Given the description of an element on the screen output the (x, y) to click on. 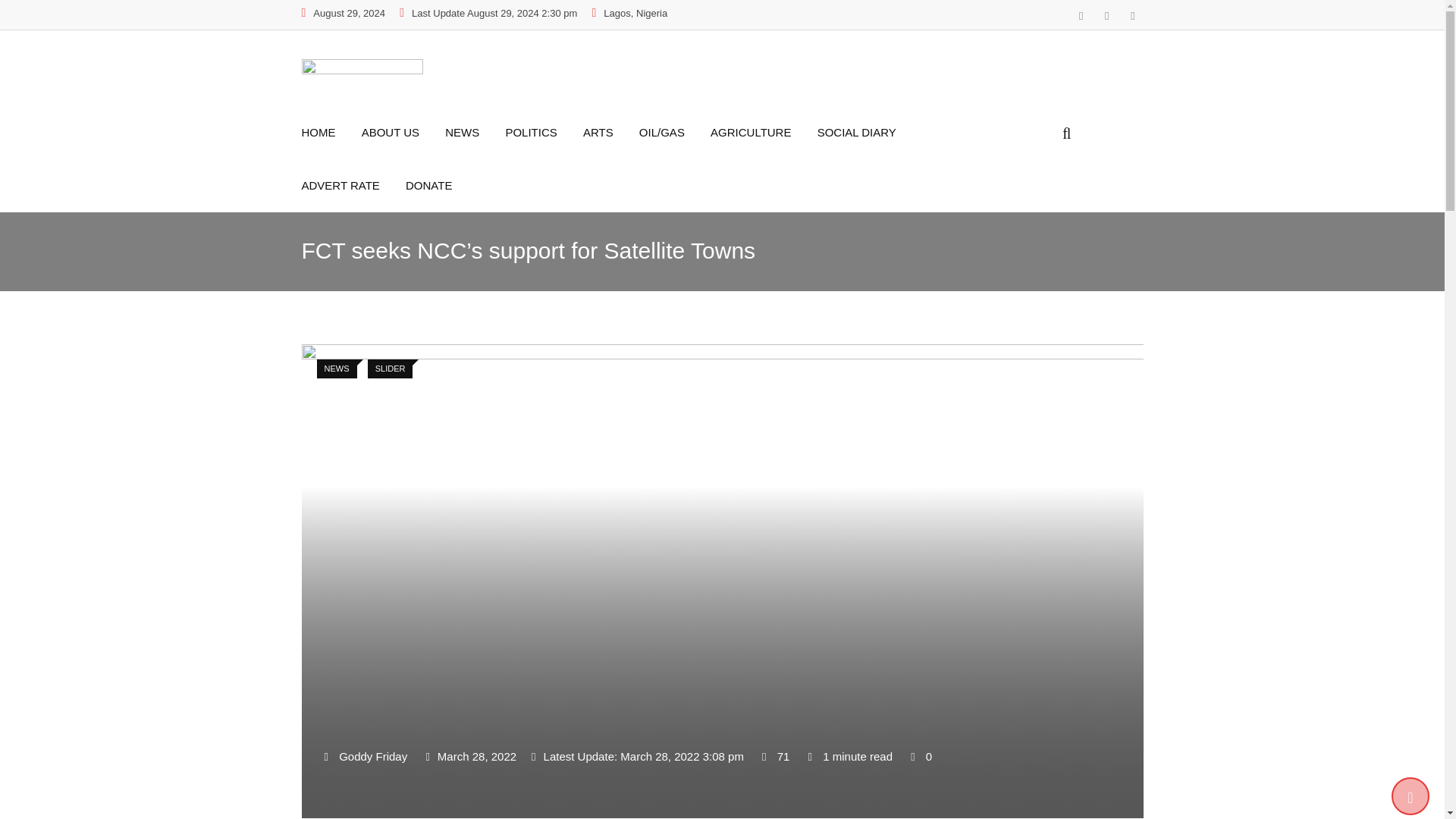
SOCIAL DIARY (867, 132)
AGRICULTURE (761, 132)
POLITICS (542, 132)
HOME (329, 132)
ABOUT US (401, 132)
ADVERT RATE (352, 185)
ARTS (609, 132)
DONATE (440, 185)
NEWS (473, 132)
